Given the description of an element on the screen output the (x, y) to click on. 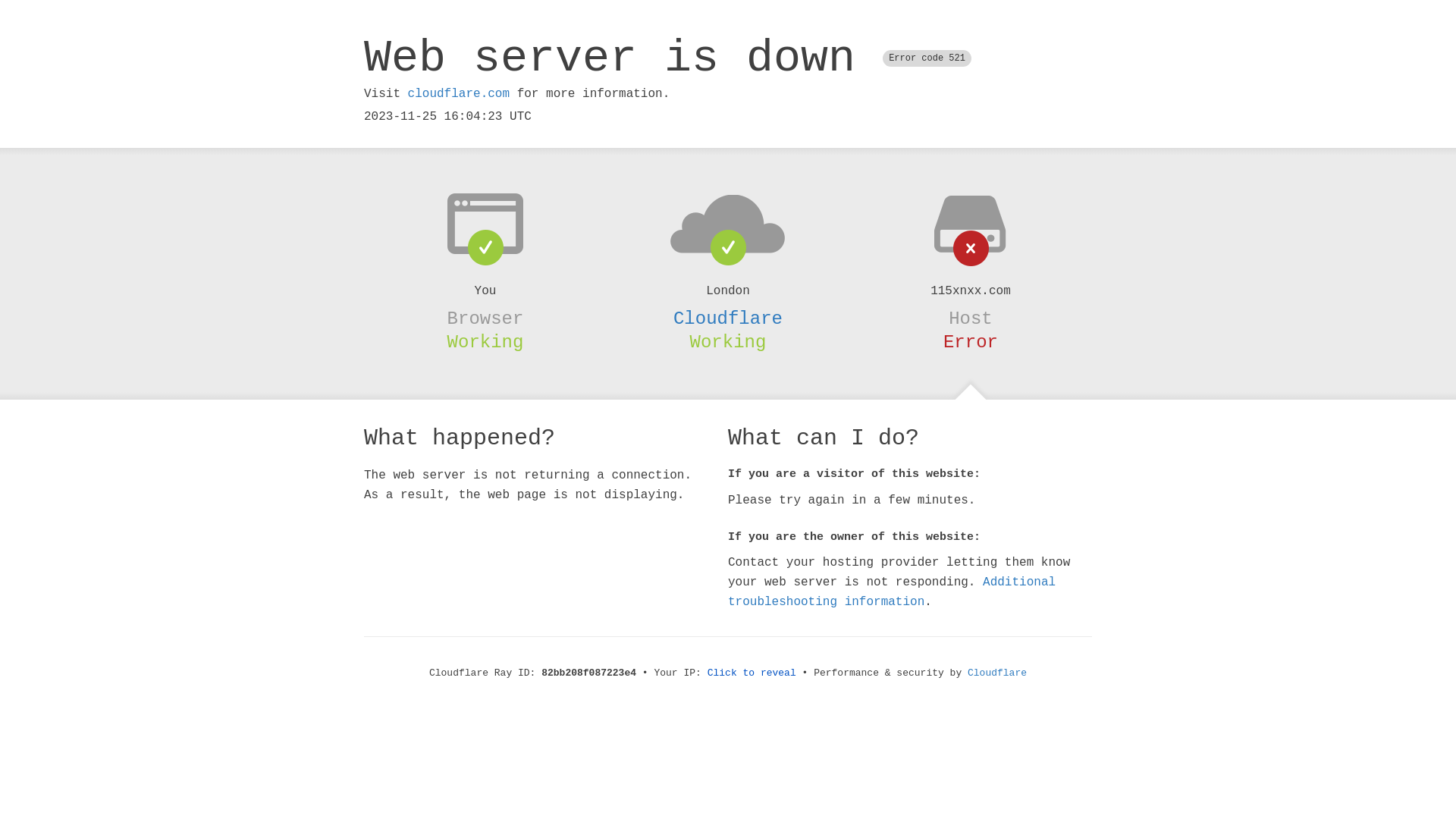
Click to reveal Element type: text (751, 672)
Cloudflare Element type: text (727, 318)
Additional troubleshooting information Element type: text (891, 591)
cloudflare.com Element type: text (458, 93)
Cloudflare Element type: text (996, 672)
